Given the description of an element on the screen output the (x, y) to click on. 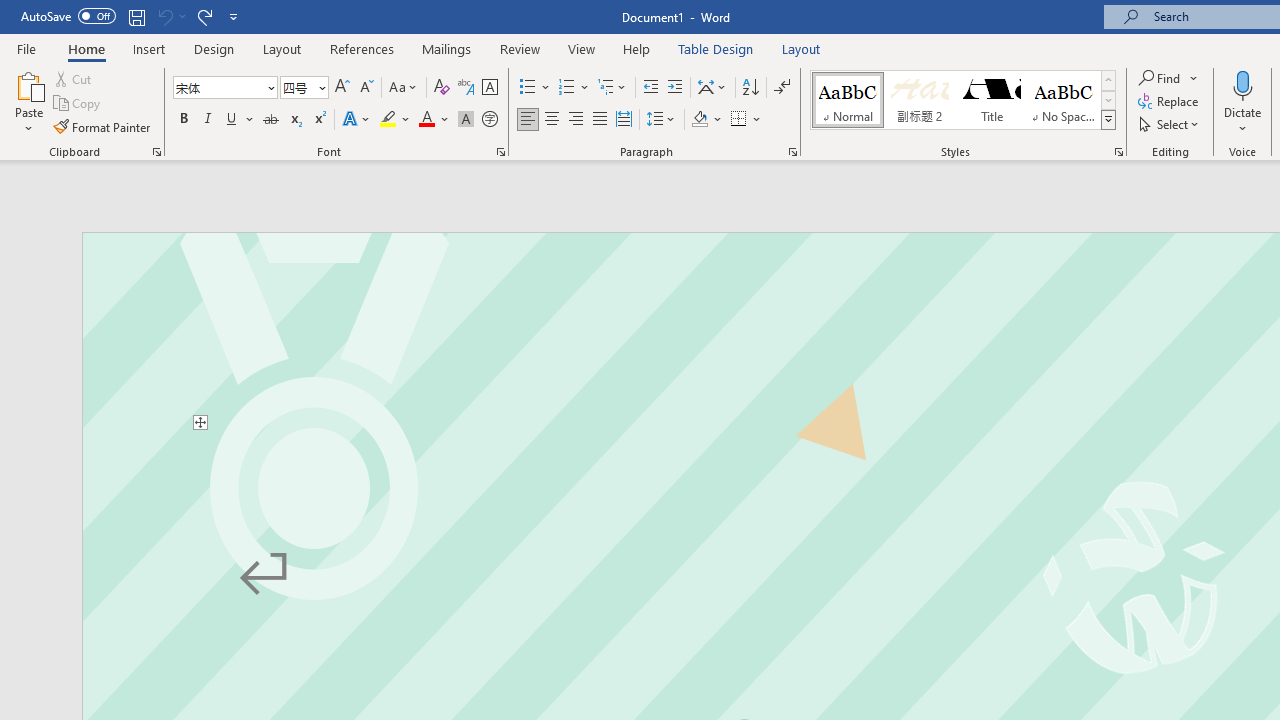
Font (218, 87)
Help (637, 48)
Paste (28, 84)
Find (1160, 78)
Justify (599, 119)
Align Left (527, 119)
Superscript (319, 119)
Multilevel List (613, 87)
Office Clipboard... (156, 151)
Italic (207, 119)
Select (1170, 124)
Can't Undo (164, 15)
Text Highlight Color Yellow (388, 119)
